Given the description of an element on the screen output the (x, y) to click on. 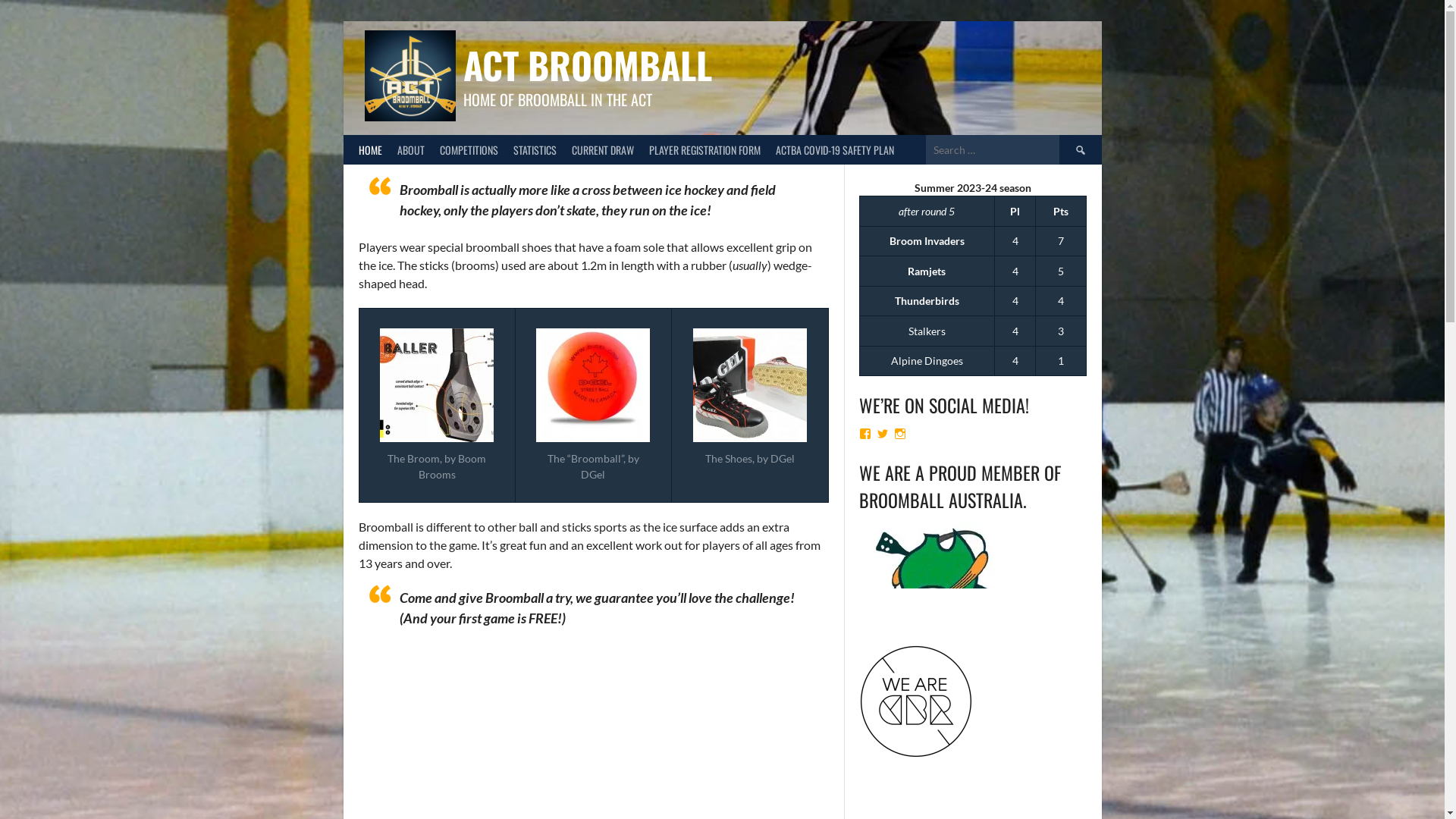
ACTBA COVID-19 SAFETY PLAN Element type: text (833, 149)
ACT BROOMBALL Element type: text (586, 64)
HOME Element type: text (369, 149)
STATISTICS Element type: text (534, 149)
ABOUT Element type: text (410, 149)
COMPETITIONS Element type: text (468, 149)
PLAYER REGISTRATION FORM Element type: text (704, 149)
CURRENT DRAW Element type: text (602, 149)
Search Element type: hover (1079, 149)
